Given the description of an element on the screen output the (x, y) to click on. 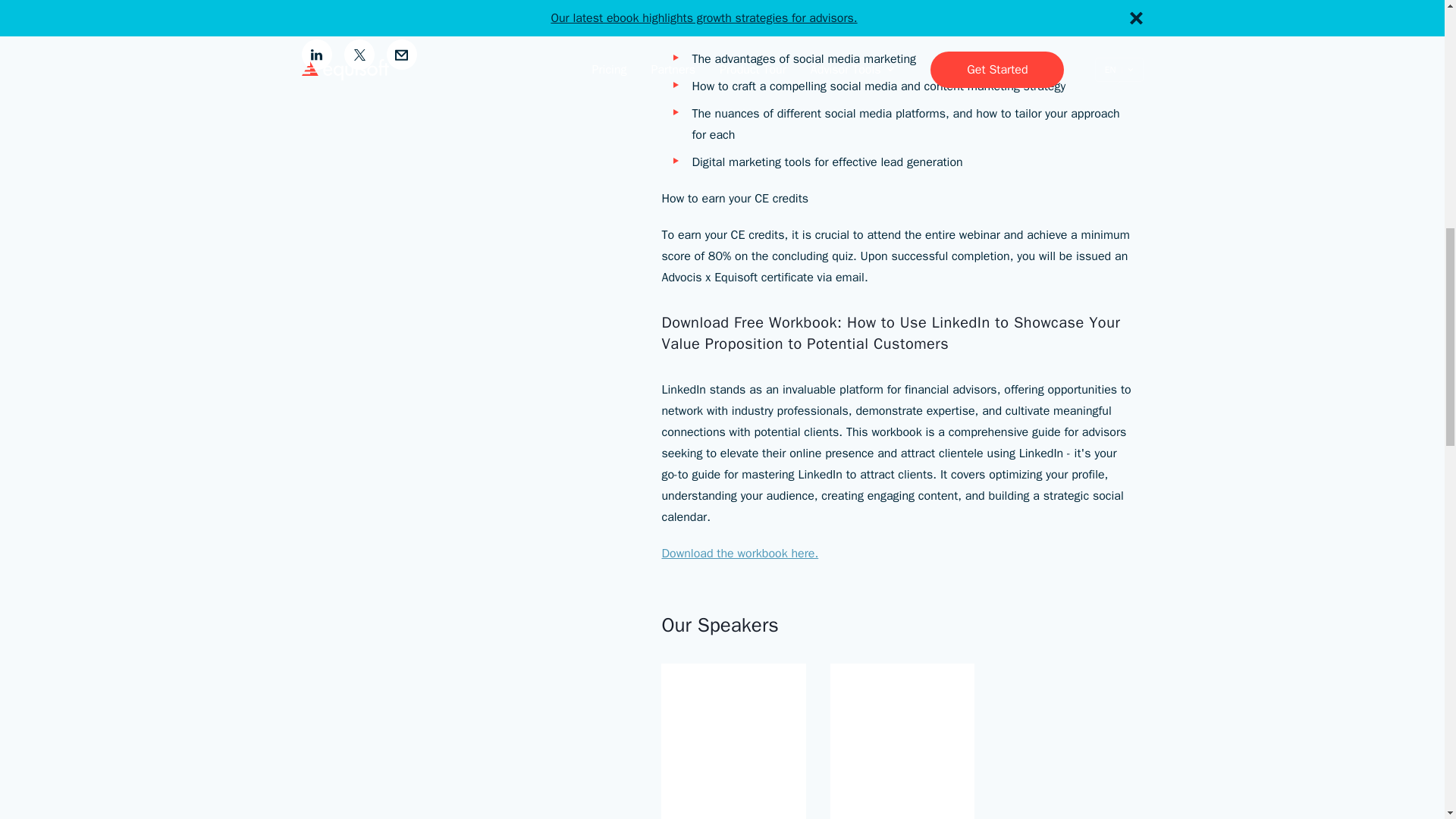
Download the workbook here. (739, 553)
